Given the description of an element on the screen output the (x, y) to click on. 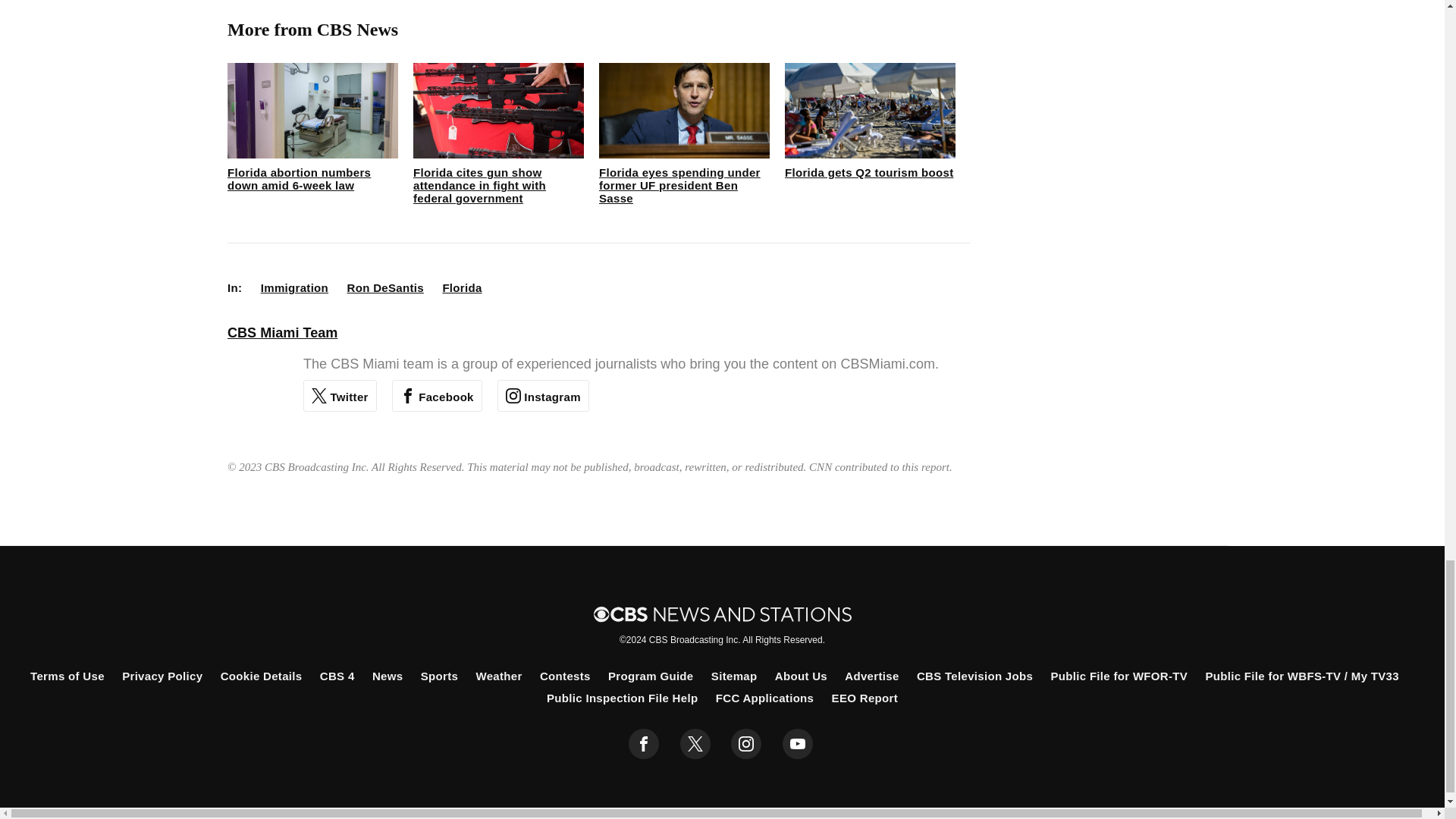
instagram (745, 743)
youtube (797, 743)
facebook (643, 743)
twitter (694, 743)
